Given the description of an element on the screen output the (x, y) to click on. 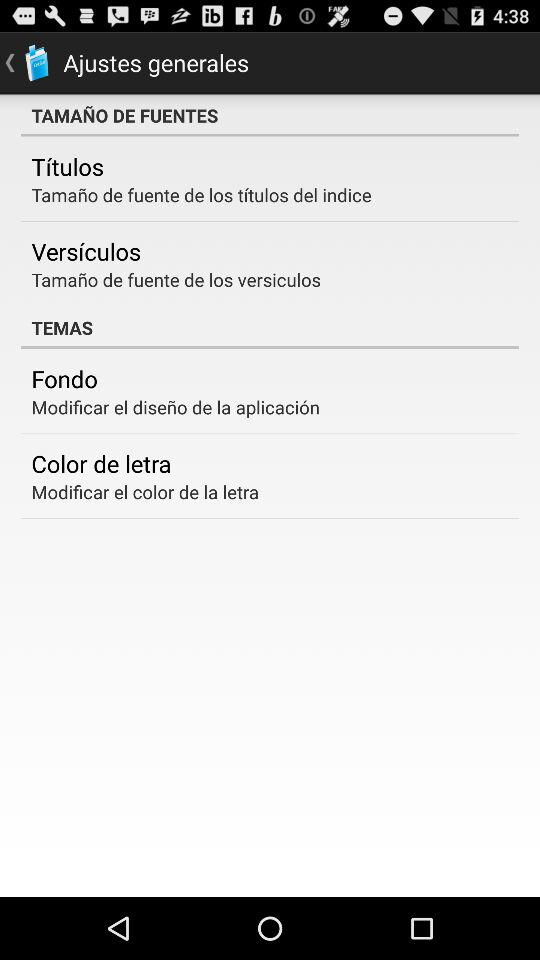
turn off the item above the fondo item (270, 327)
